Given the description of an element on the screen output the (x, y) to click on. 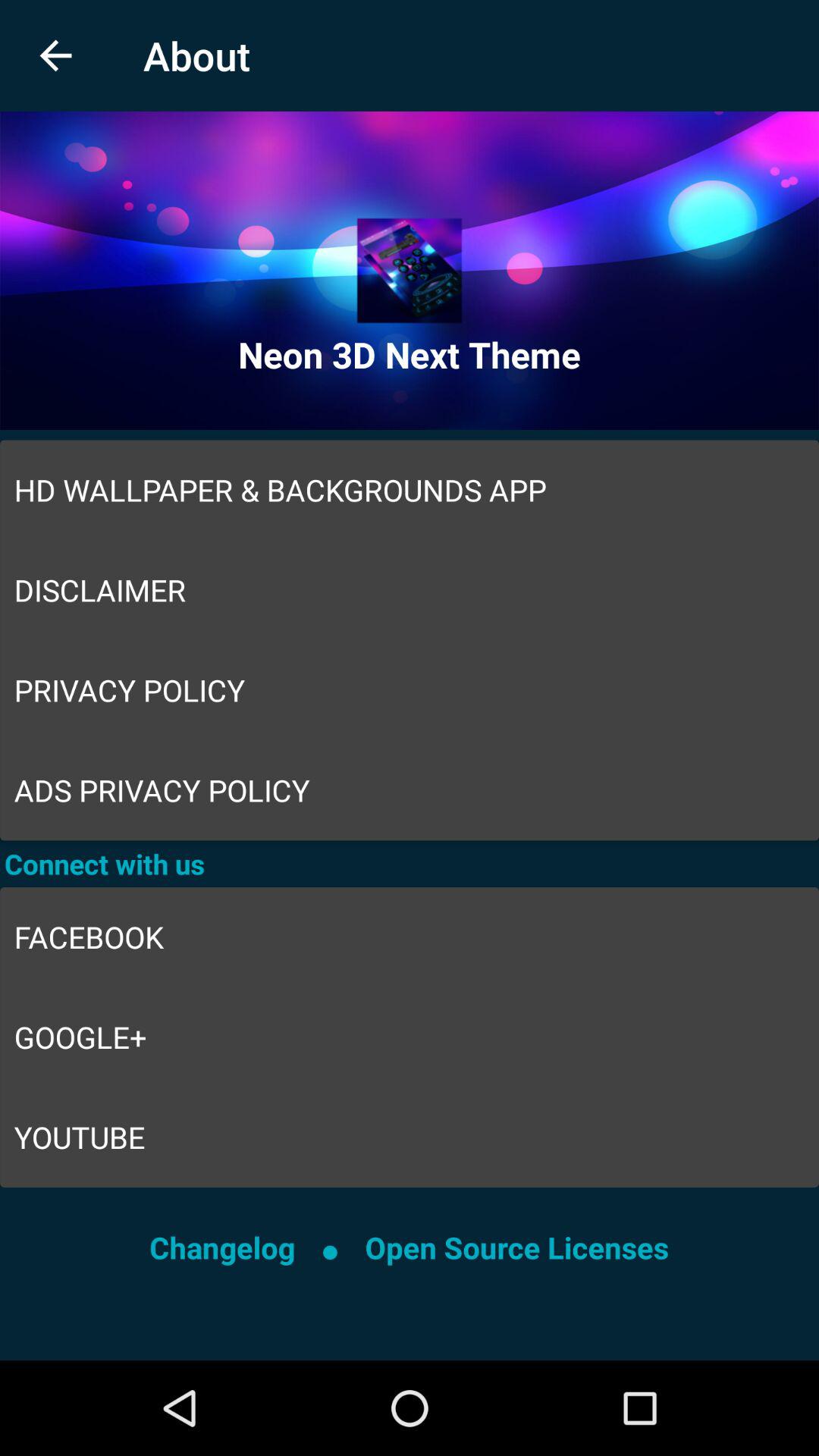
turn on item next to the about (55, 55)
